Given the description of an element on the screen output the (x, y) to click on. 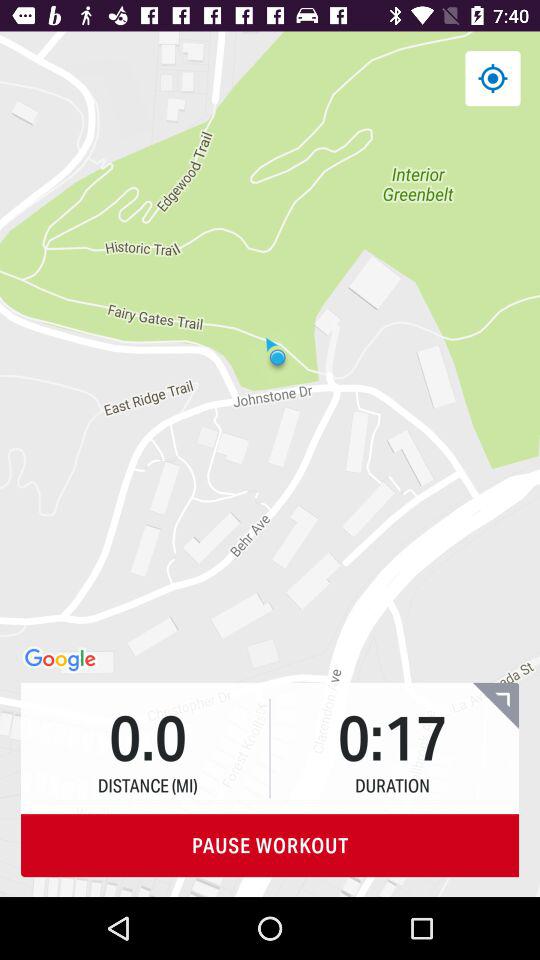
show location (492, 78)
